Given the description of an element on the screen output the (x, y) to click on. 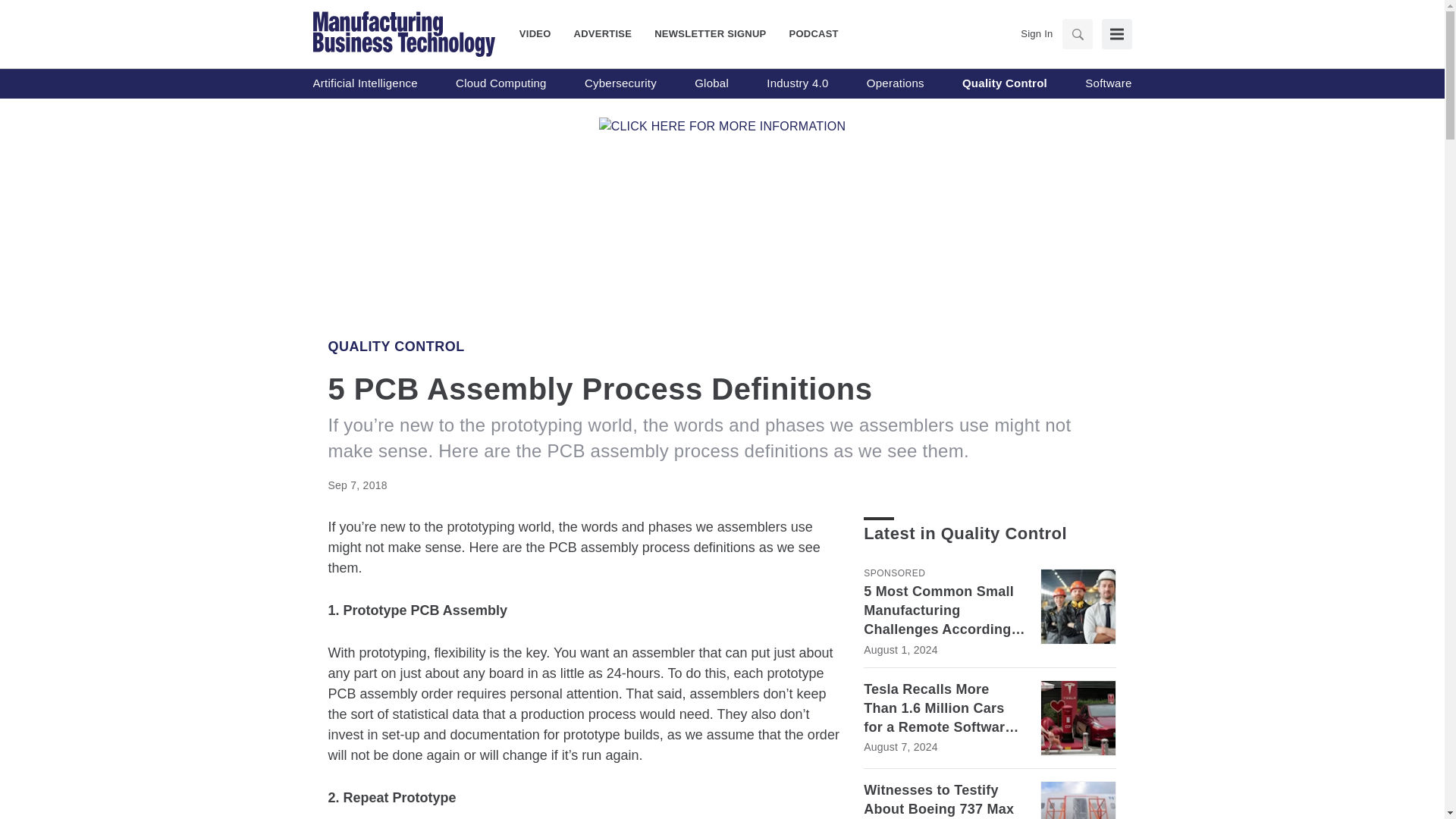
VIDEO (540, 33)
Artificial Intelligence (364, 83)
Global (711, 83)
Cybersecurity (620, 83)
Software (1107, 83)
PODCAST (807, 33)
Sponsored (893, 573)
Quality Control (395, 346)
Cloud Computing (501, 83)
NEWSLETTER SIGNUP (710, 33)
